Given the description of an element on the screen output the (x, y) to click on. 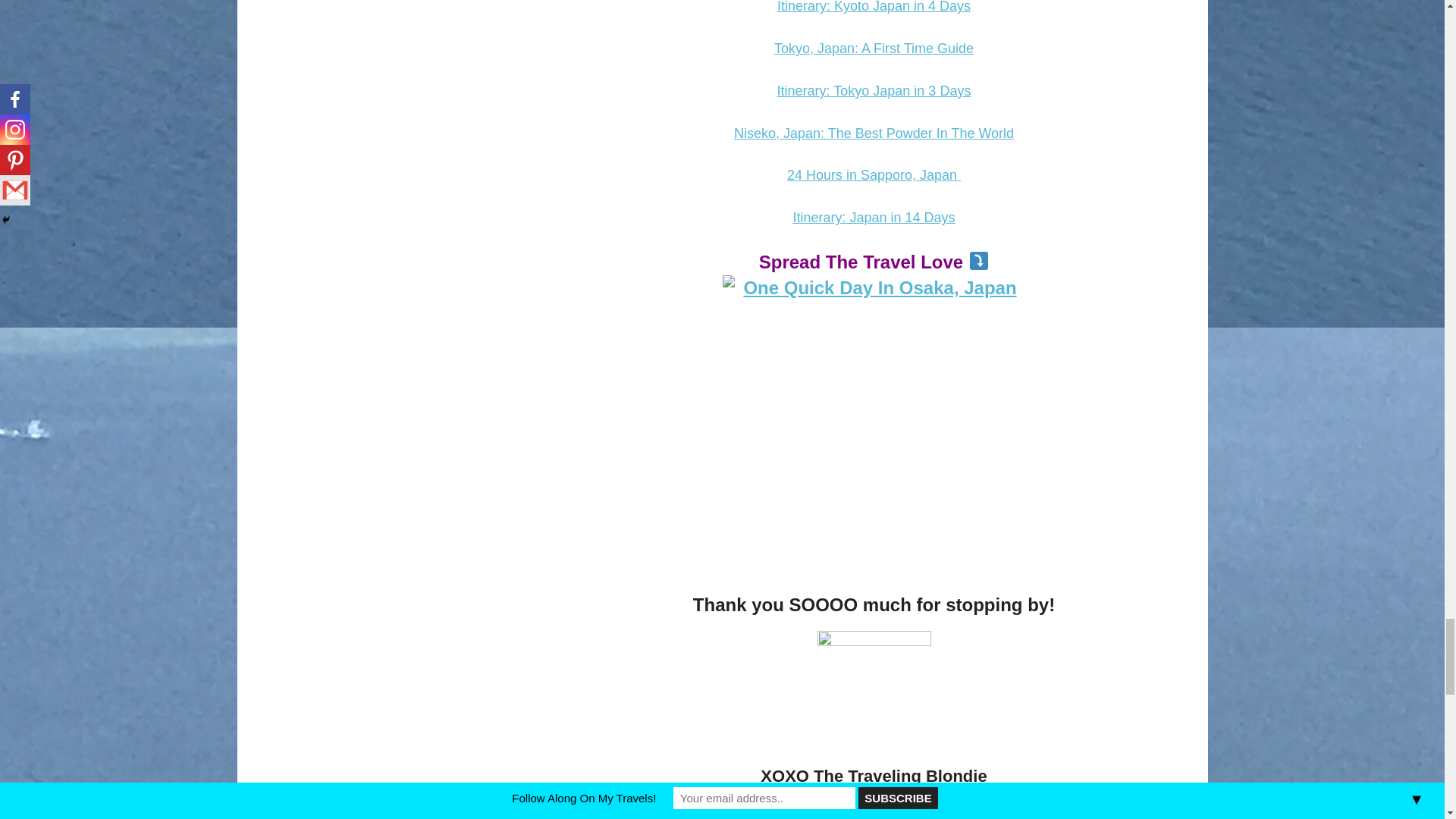
One Quick Day In Osaka, Japan  (873, 426)
